Given the description of an element on the screen output the (x, y) to click on. 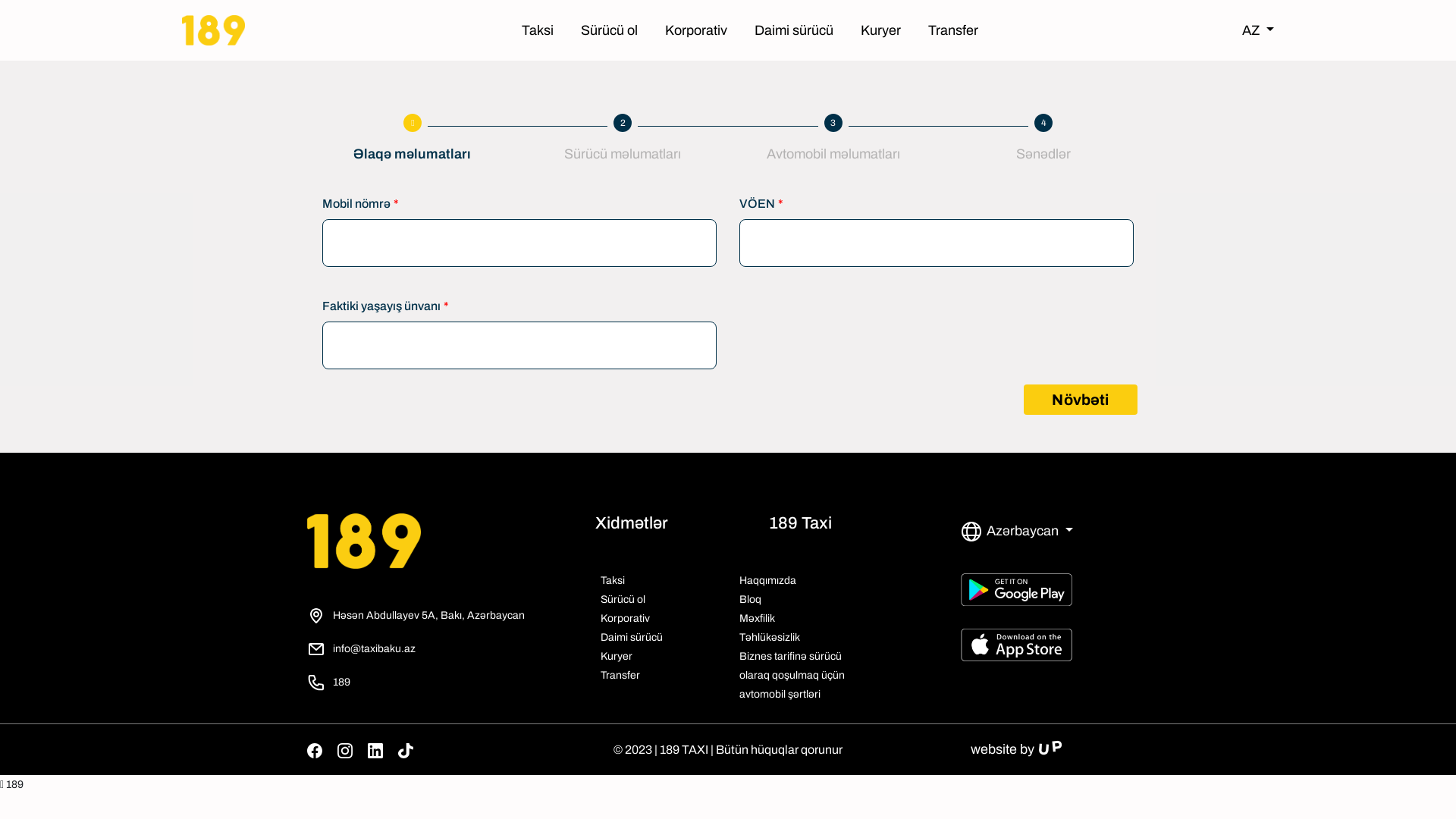
Korporativ Element type: text (624, 618)
AZ Element type: text (1258, 30)
Transfer Element type: text (620, 674)
Bloq Element type: text (750, 599)
Taksi Element type: text (612, 580)
website by Element type: text (1015, 749)
Kuryer Element type: text (616, 656)
189 Element type: text (11, 784)
